Given the description of an element on the screen output the (x, y) to click on. 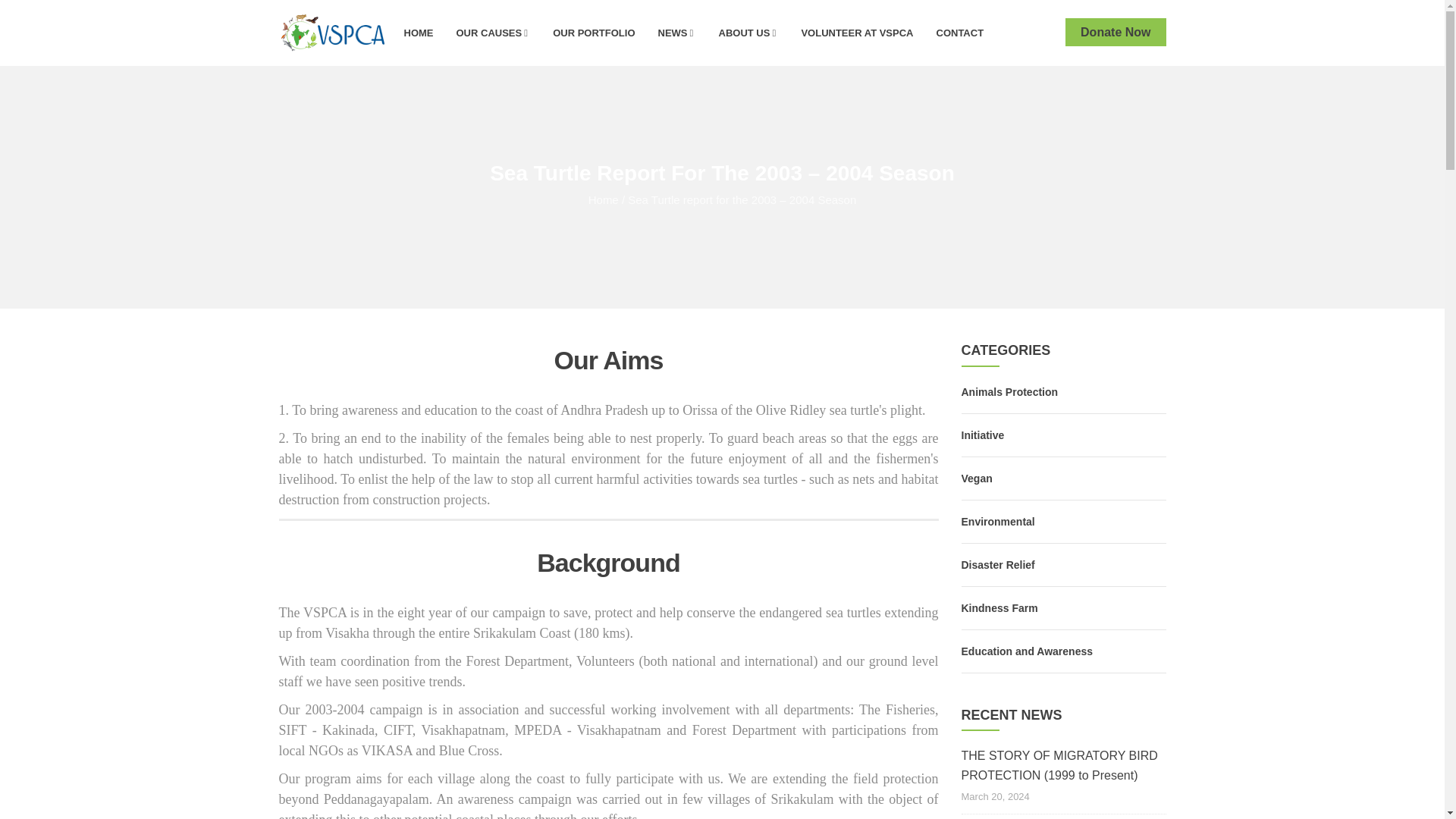
HOME (419, 32)
OUR PORTFOLIO (593, 32)
OUR CAUSES (492, 32)
NEWS (676, 32)
